Given the description of an element on the screen output the (x, y) to click on. 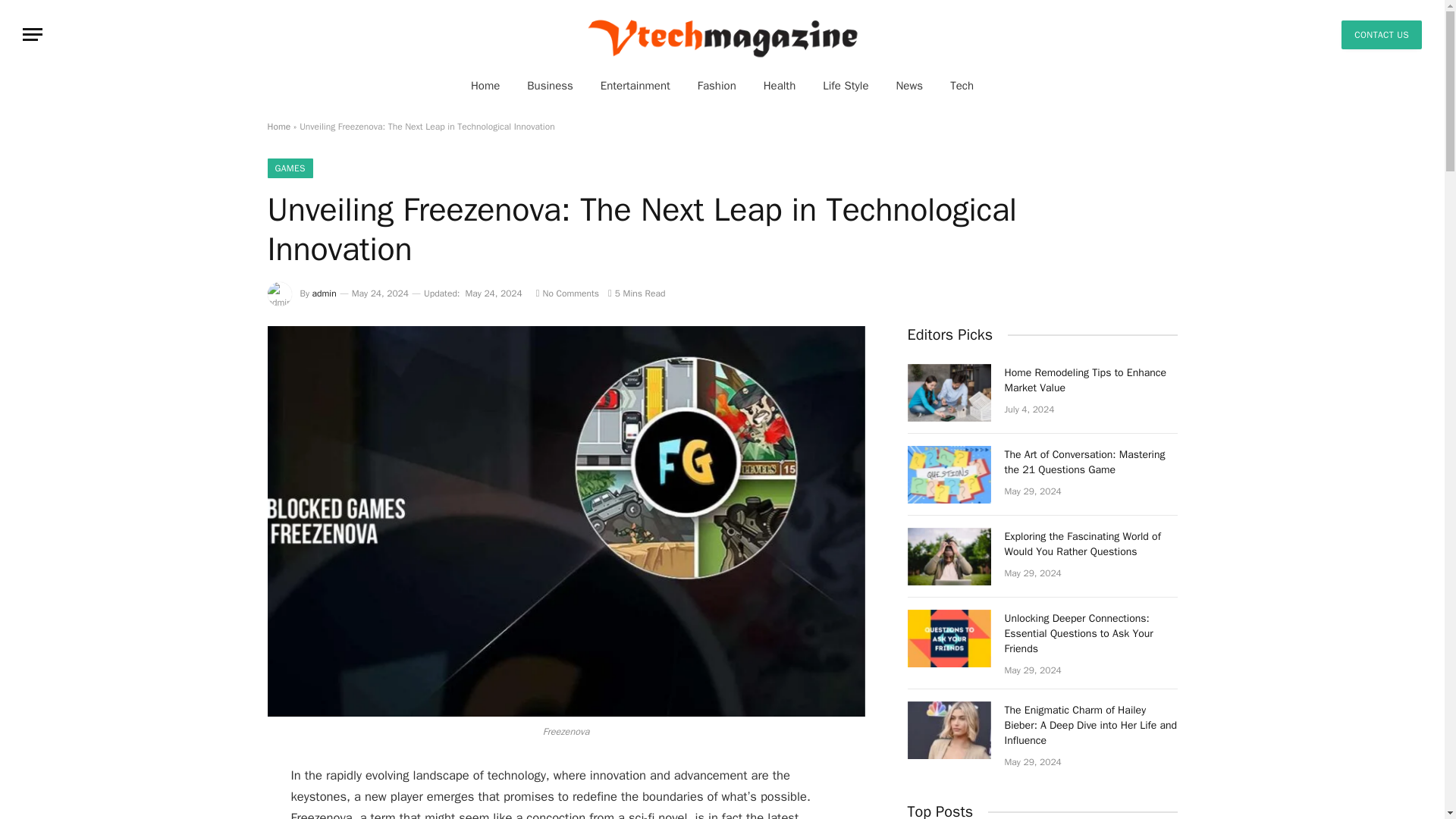
News (909, 85)
Fashion (716, 85)
vtechmagazine (721, 34)
GAMES (289, 168)
Life Style (845, 85)
Home (277, 126)
Entertainment (635, 85)
CONTACT US (1381, 33)
Health (779, 85)
Posts by admin (324, 293)
